Given the description of an element on the screen output the (x, y) to click on. 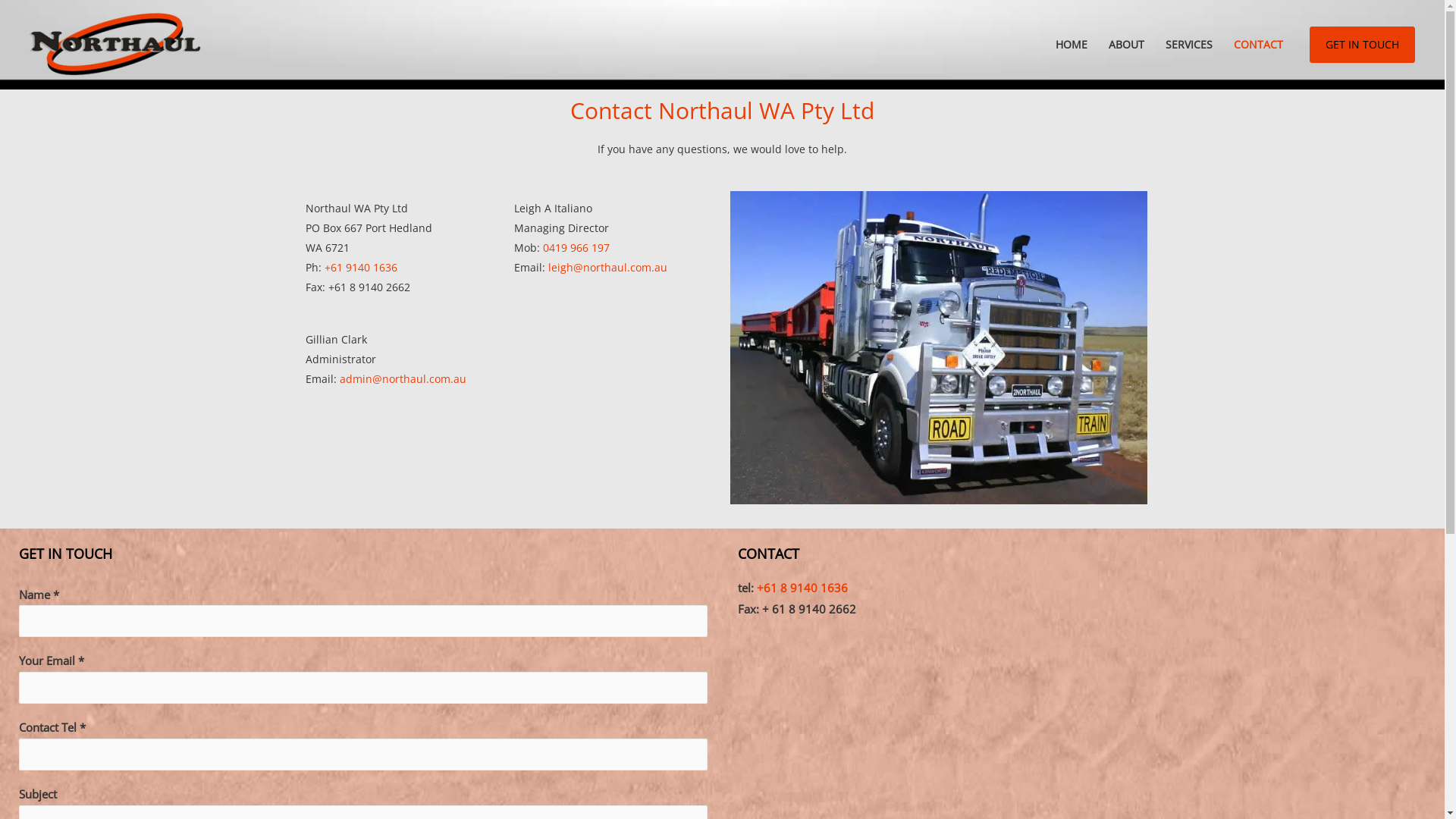
+61 8 9140 1636 Element type: text (801, 587)
admin@northaul.com.au Element type: text (402, 378)
SERVICES Element type: text (1188, 44)
HOME Element type: text (1071, 44)
+61 9140 1636 Element type: text (360, 267)
0419 966 197 Element type: text (575, 247)
leigh@northaul.com.au Element type: text (606, 267)
ABOUT Element type: text (1126, 44)
CONTACT Element type: text (1258, 44)
GET IN TOUCH Element type: text (1362, 44)
